Given the description of an element on the screen output the (x, y) to click on. 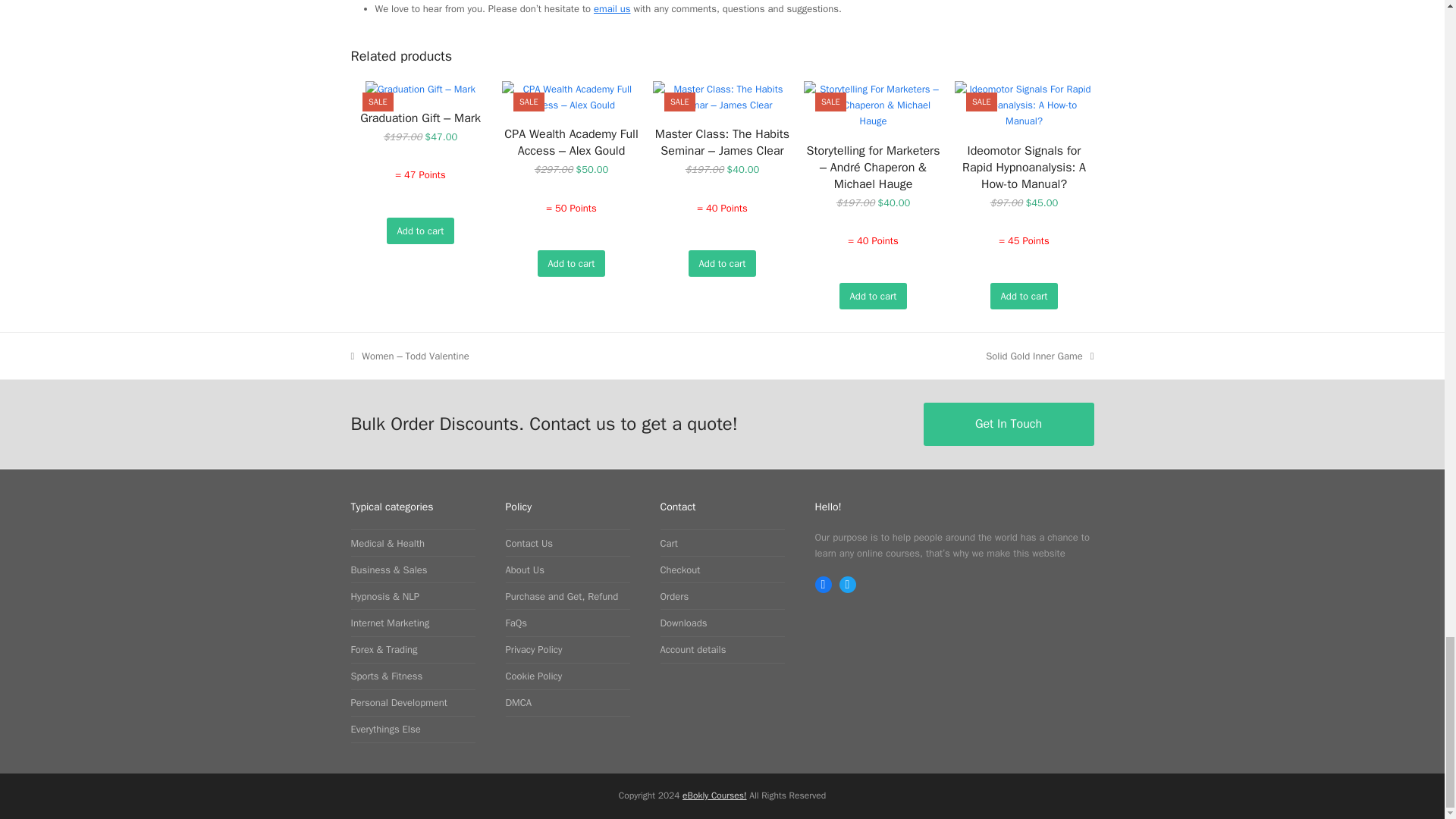
Twitter (847, 584)
Facebook (822, 584)
